Given the description of an element on the screen output the (x, y) to click on. 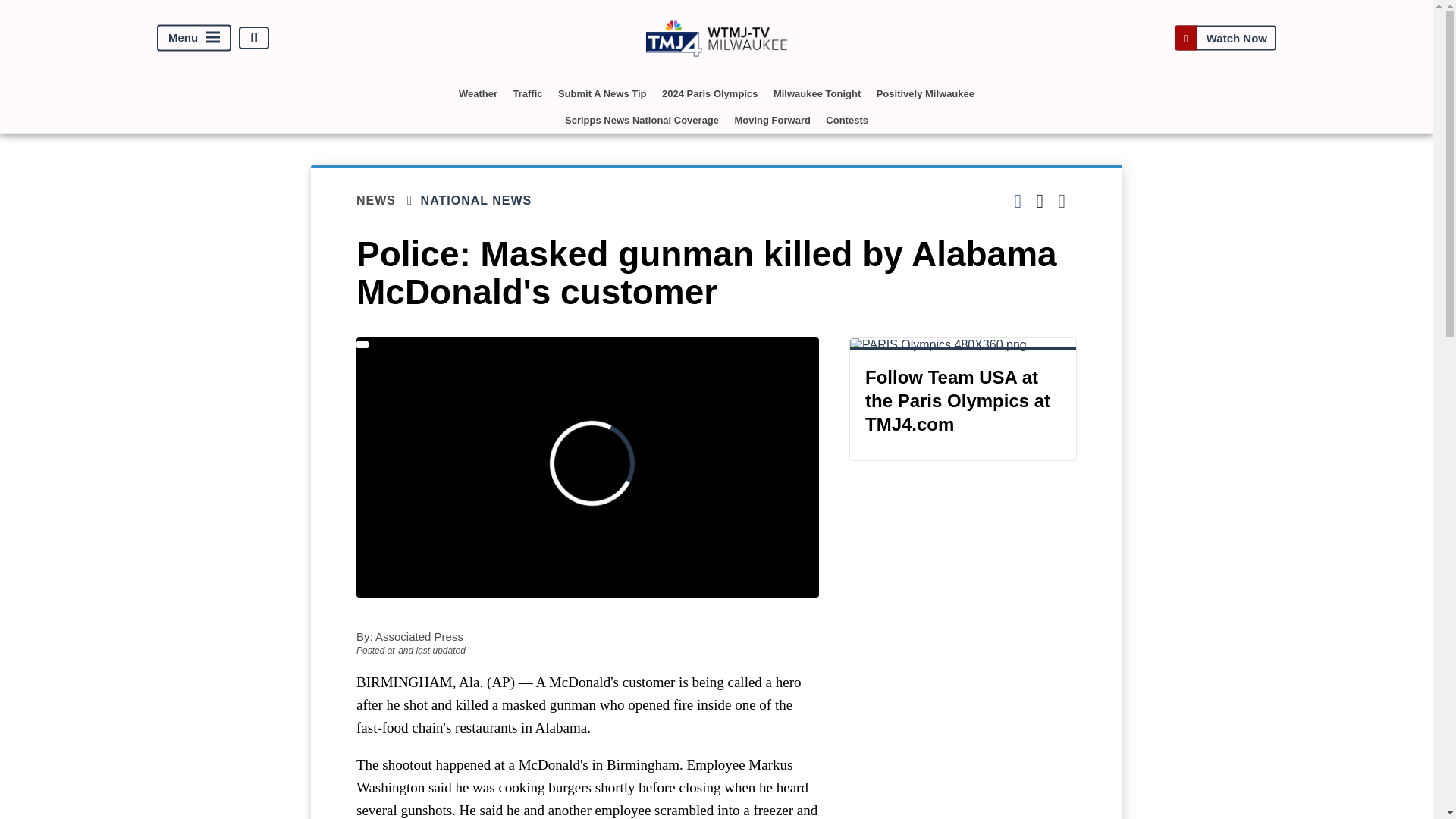
Menu (194, 38)
Watch Now (1224, 38)
